Given the description of an element on the screen output the (x, y) to click on. 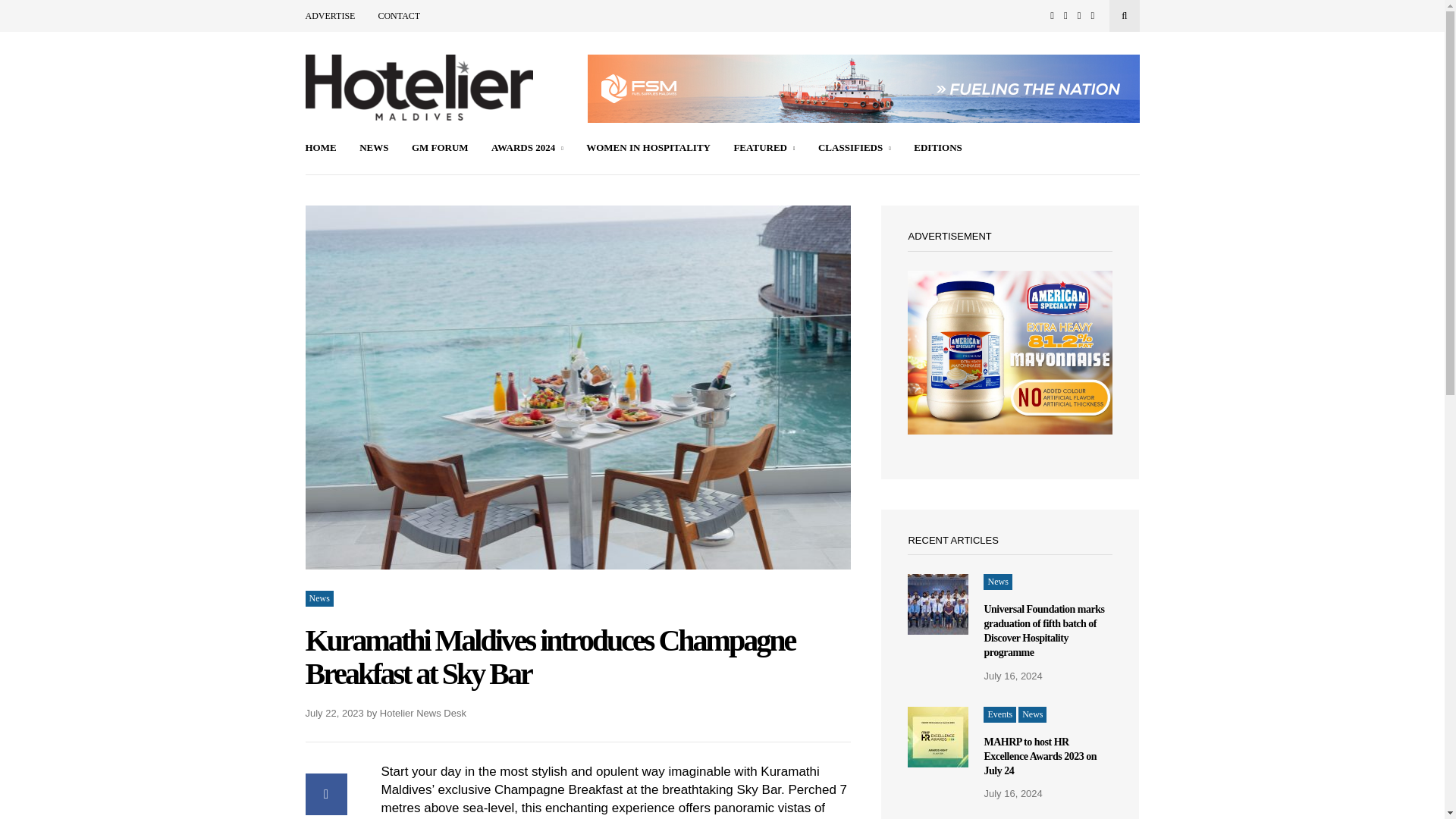
CLASSIFIEDS (854, 148)
News (318, 598)
CONTACT (398, 15)
HOME (320, 148)
NEWS (373, 148)
FEATURED (763, 148)
EDITIONS (938, 148)
WOMEN IN HOSPITALITY (648, 148)
ADVERTISE (329, 15)
AWARDS 2024 (527, 148)
GM FORUM (440, 148)
Hotelier News Desk (422, 713)
